Given the description of an element on the screen output the (x, y) to click on. 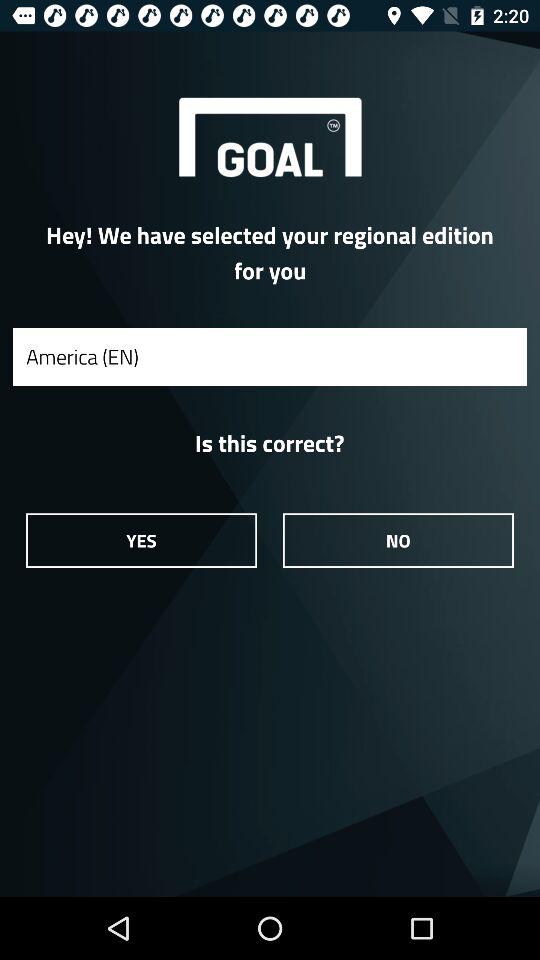
select yes (141, 540)
